Given the description of an element on the screen output the (x, y) to click on. 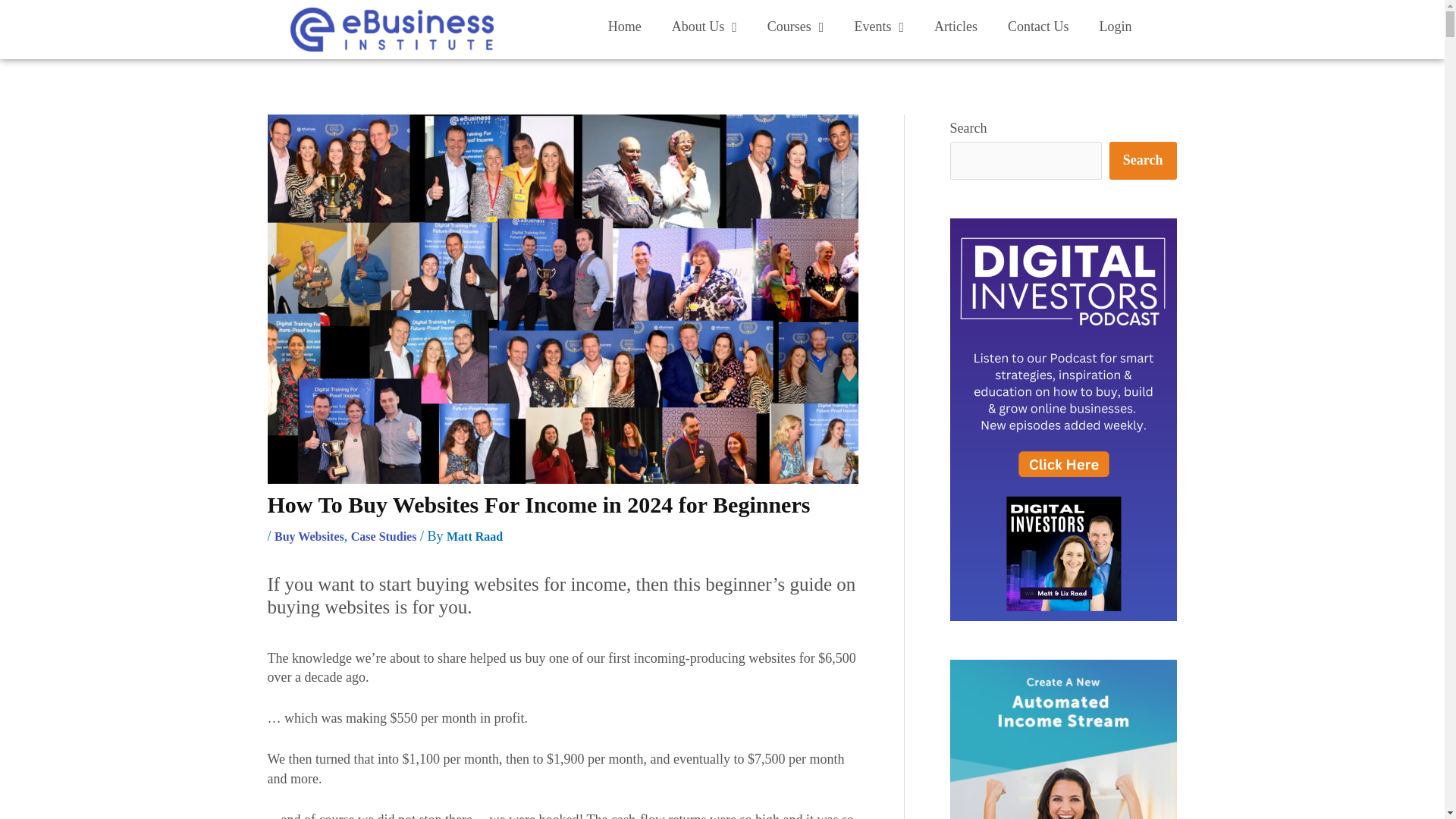
Courses (796, 26)
Home (624, 26)
About Us (704, 26)
View all posts by Matt Raad (474, 535)
Articles (955, 26)
Login (1115, 26)
Contact Us (1038, 26)
Events (878, 26)
